Given the description of an element on the screen output the (x, y) to click on. 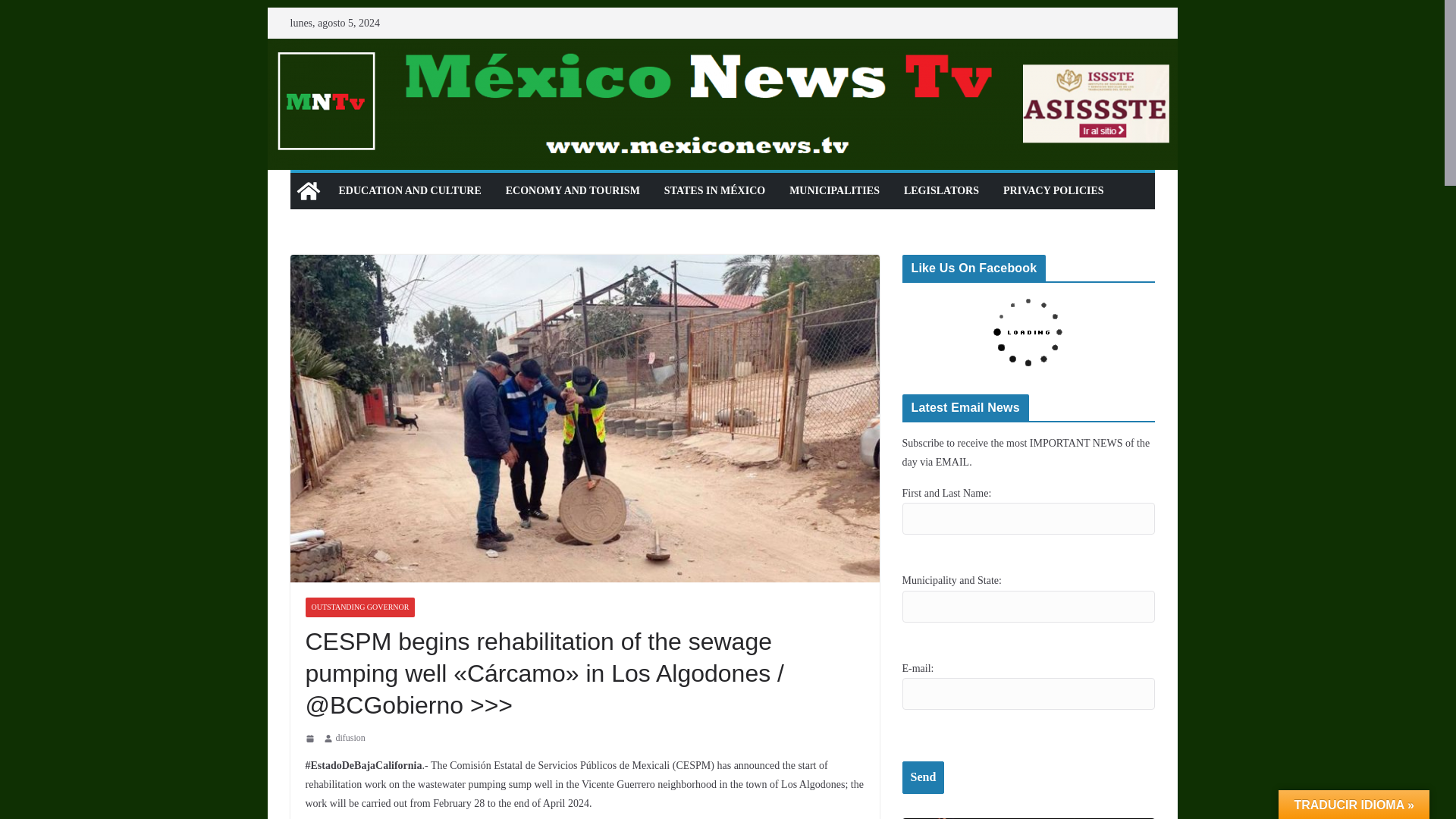
difusion (349, 738)
MUNICIPALITIES (834, 190)
Send (923, 777)
PRIVACY POLICIES (1053, 190)
Send (923, 777)
ECONOMY AND TOURISM (572, 190)
EDUCATION AND CULTURE (408, 190)
OUTSTANDING GOVERNOR (359, 607)
LEGISLATORS (941, 190)
difusion (349, 738)
